Given the description of an element on the screen output the (x, y) to click on. 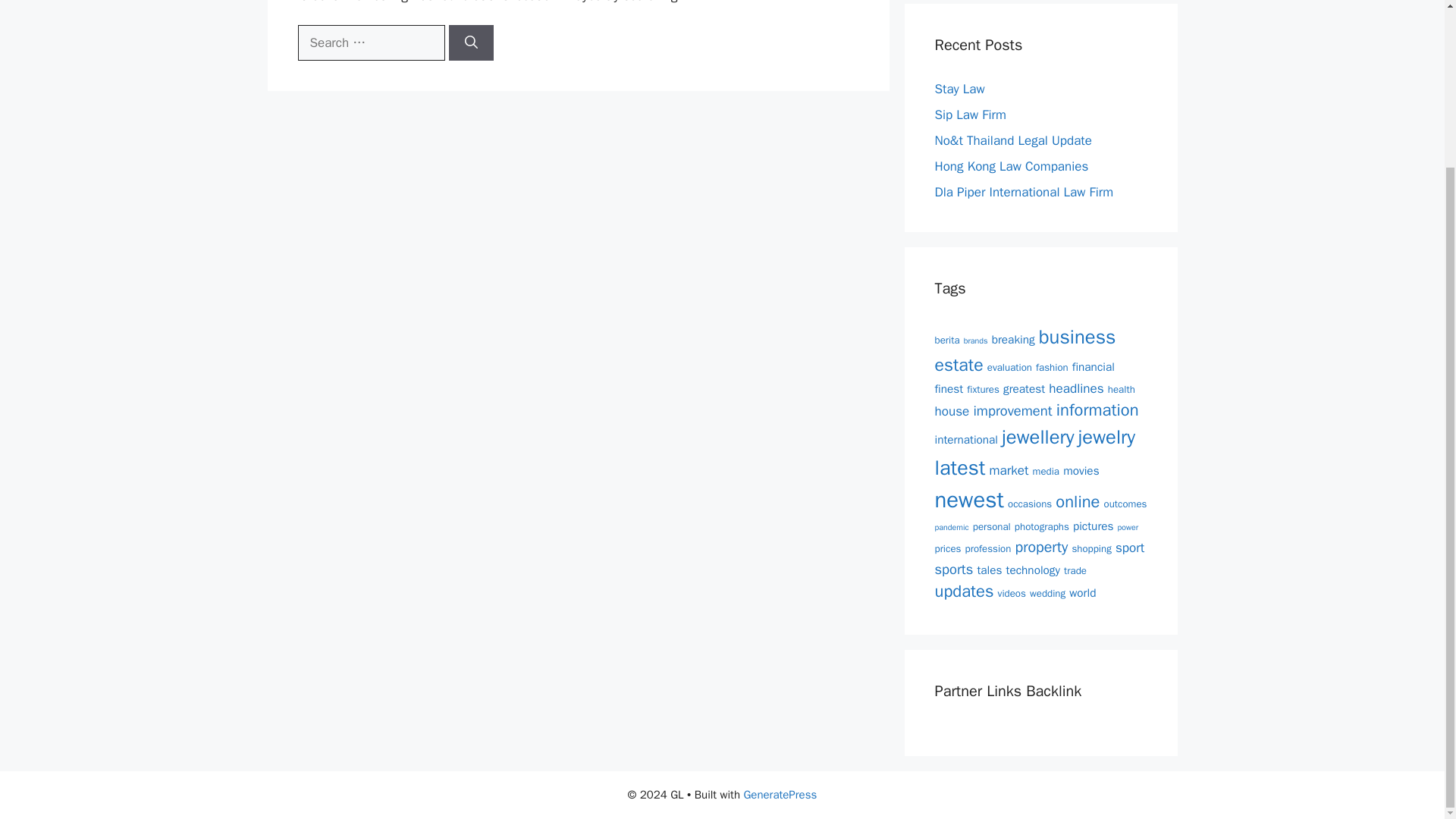
brands (975, 340)
movies (1080, 470)
financial (1093, 366)
fashion (1051, 367)
fixtures (982, 389)
media (1045, 471)
newest (968, 499)
Hong Kong Law Companies (1010, 166)
market (1007, 469)
Dla Piper International Law Firm (1023, 191)
